Given the description of an element on the screen output the (x, y) to click on. 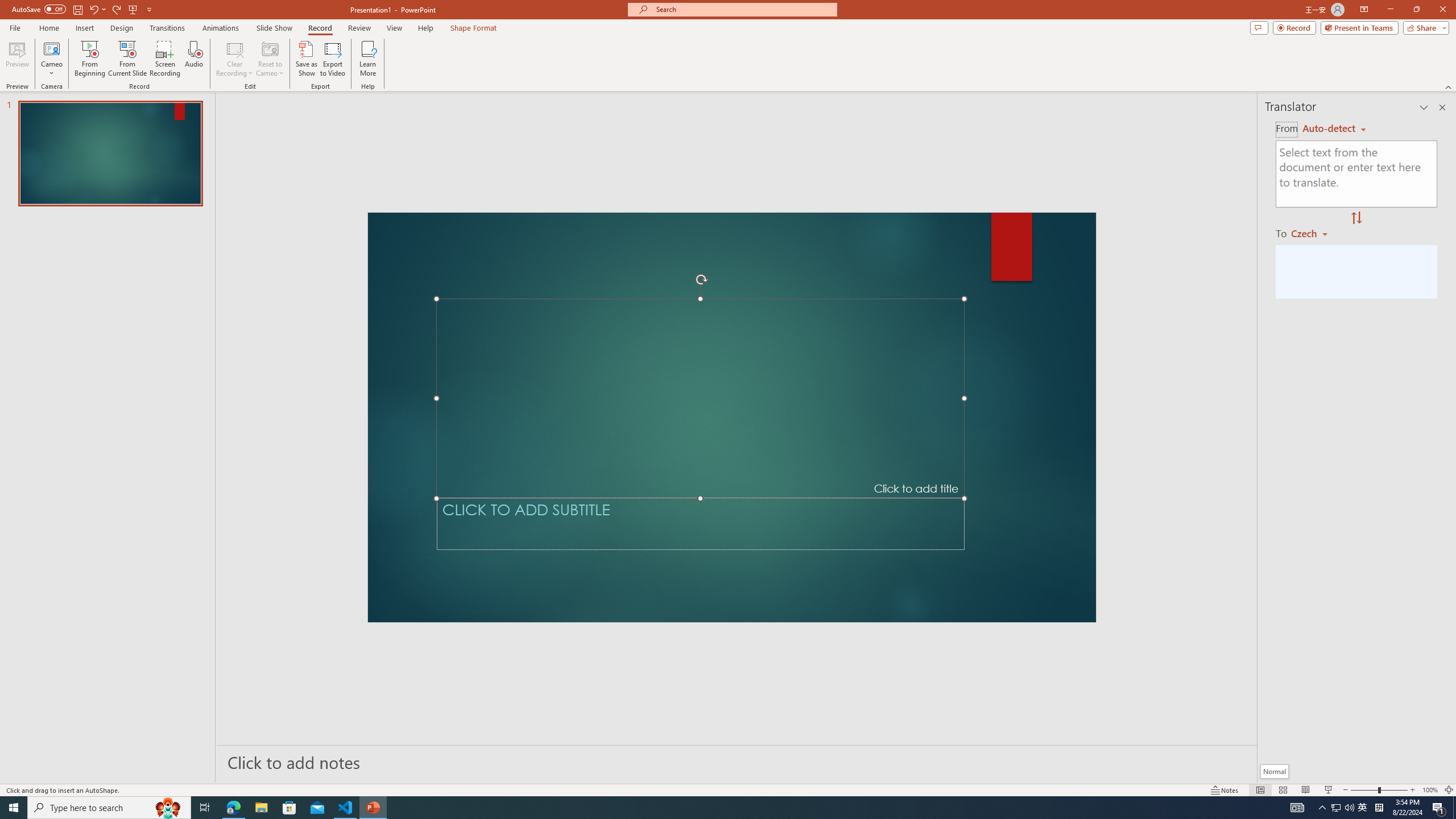
From Beginning... (89, 58)
Subtitle TextBox (699, 523)
